Given the description of an element on the screen output the (x, y) to click on. 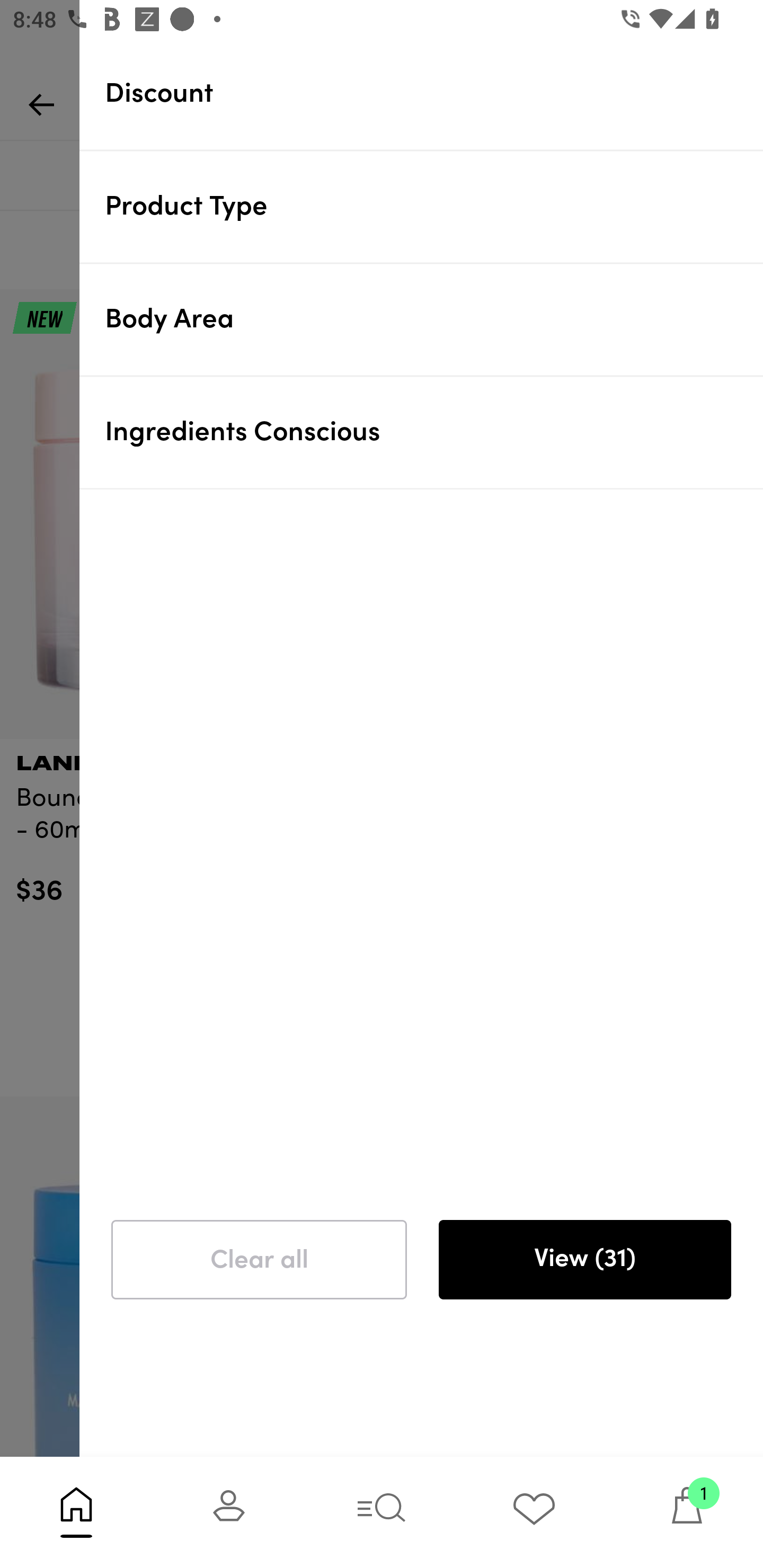
Discount (434, 92)
Product Type (434, 205)
Body Area (434, 318)
Ingredients Conscious (434, 431)
Clear all (258, 1259)
View (31) (584, 1259)
1 (686, 1512)
